Given the description of an element on the screen output the (x, y) to click on. 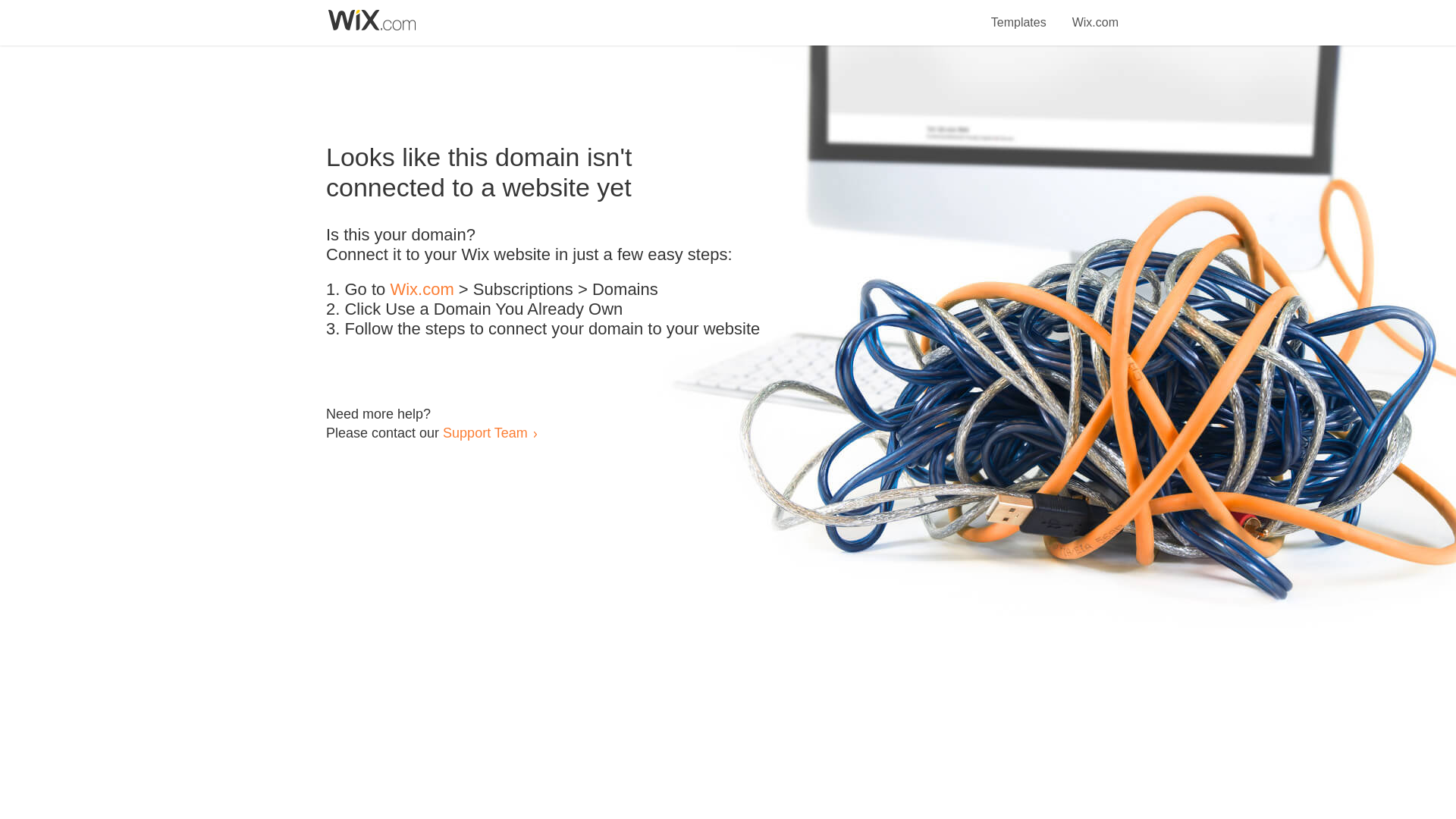
Wix.com (421, 289)
Templates (1018, 14)
Wix.com (1095, 14)
Support Team (484, 432)
